Given the description of an element on the screen output the (x, y) to click on. 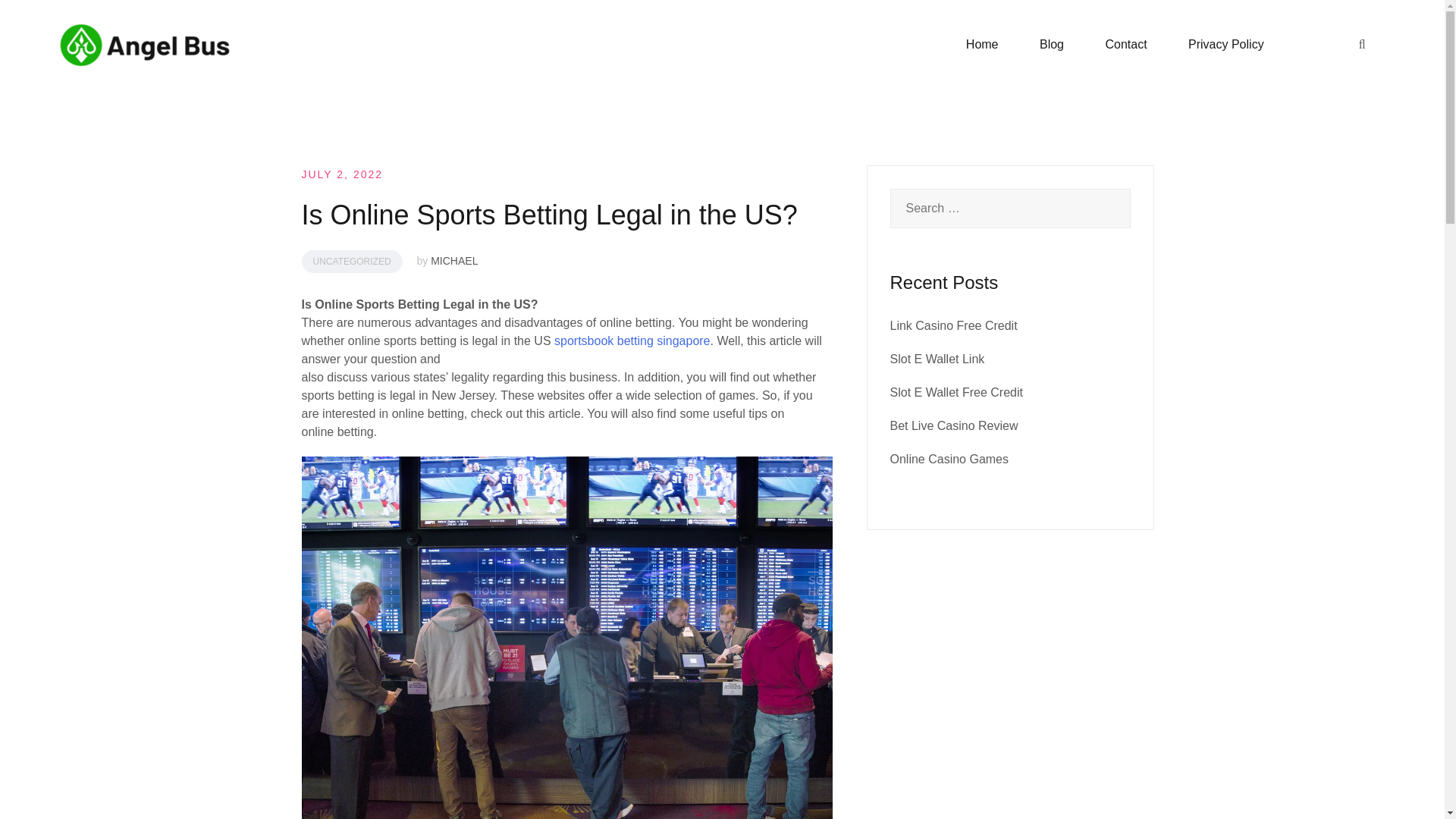
Search (47, 19)
MICHAEL (453, 260)
Slot E Wallet Free Credit (956, 391)
UNCATEGORIZED (352, 261)
Contact (1126, 45)
Online Casino Games (949, 459)
Blog (1051, 45)
Slot E Wallet Link (937, 358)
Link Casino Free Credit (953, 325)
Privacy Policy (1225, 45)
